Given the description of an element on the screen output the (x, y) to click on. 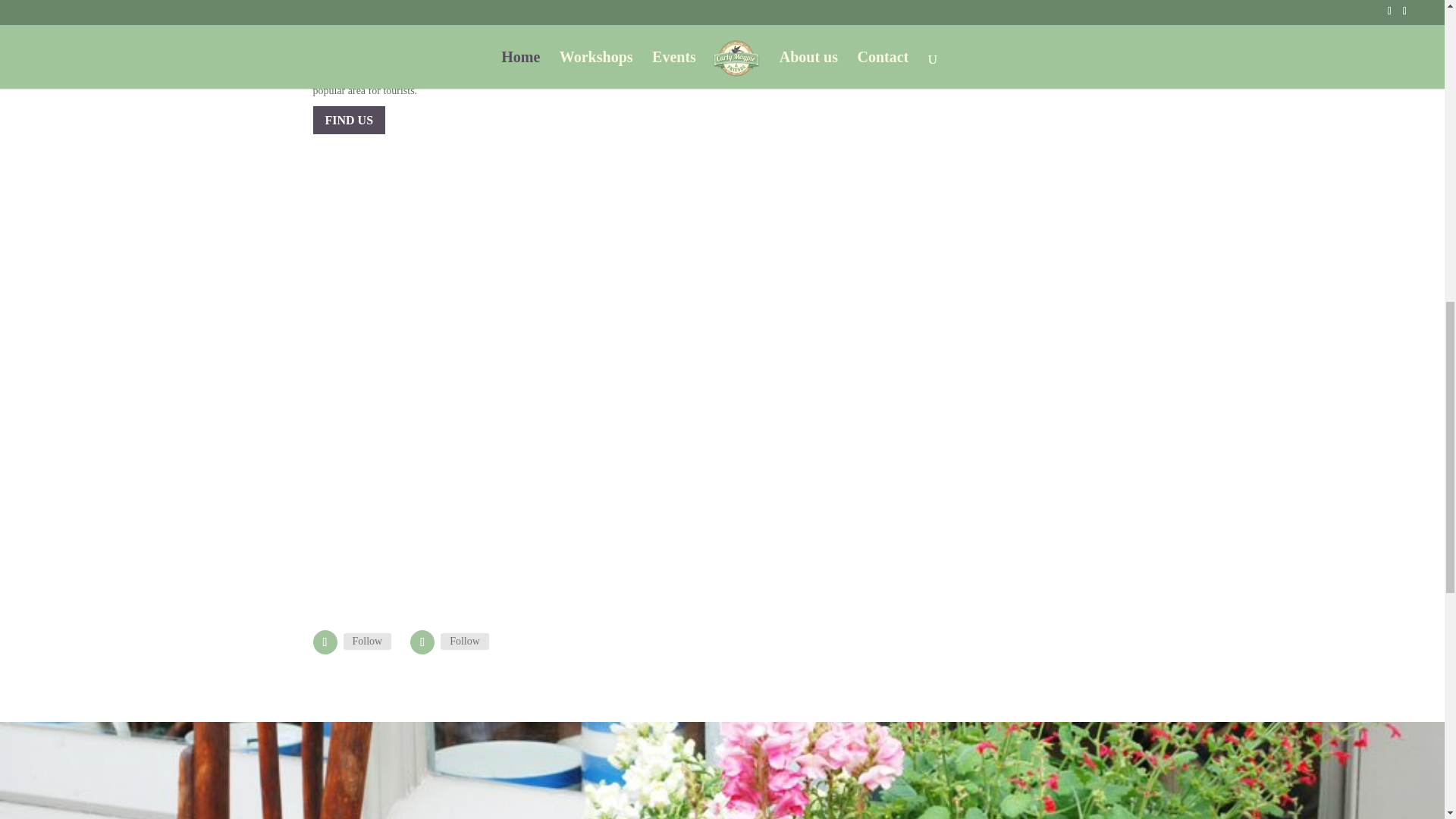
ABOUT US (786, 61)
Instagram (465, 641)
Follow (366, 641)
National Forest (590, 16)
Follow on Instagram (421, 641)
FIND US (349, 120)
Follow (465, 641)
National Forest (426, 58)
Follow on Facebook (324, 641)
Facebook (366, 641)
